Given the description of an element on the screen output the (x, y) to click on. 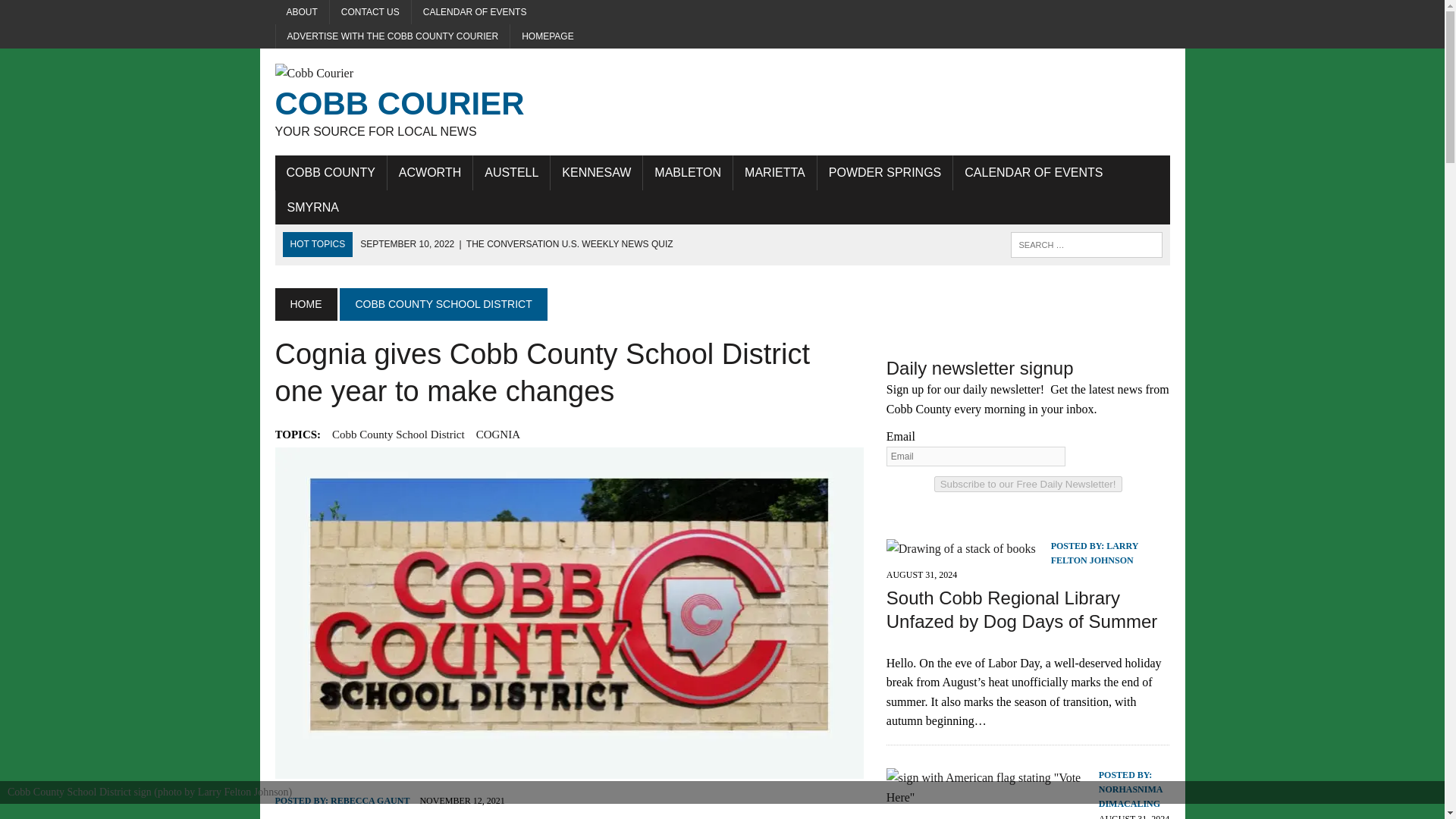
SMYRNA (313, 207)
COGNIA (497, 434)
POWDER SPRINGS (884, 172)
AUSTELL (511, 172)
CONTACT US (370, 12)
HOMEPAGE (548, 36)
Cobb  Courier (416, 101)
MARIETTA (774, 172)
REBECCA GAUNT (369, 800)
